Given the description of an element on the screen output the (x, y) to click on. 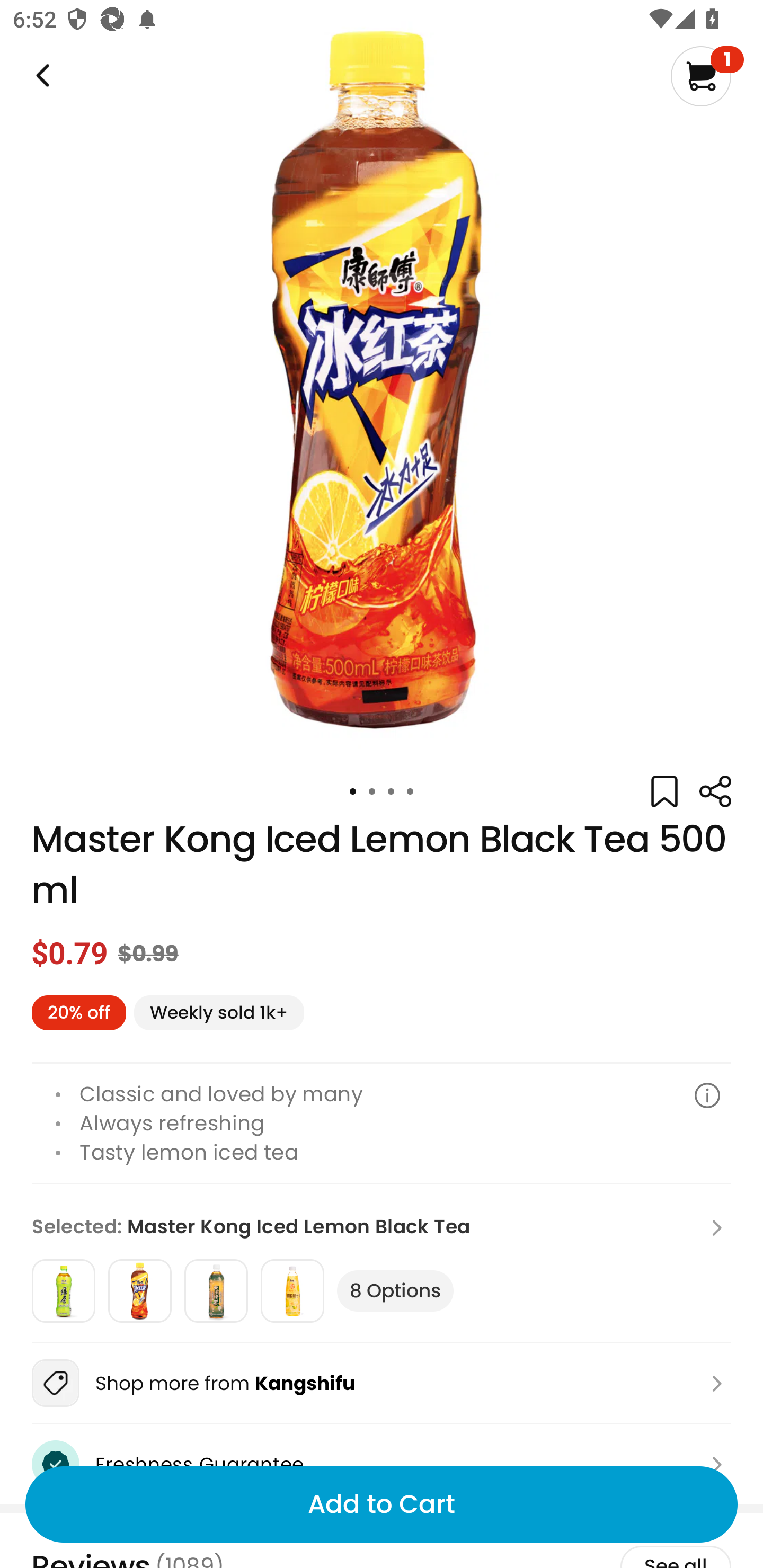
Weee! (41, 75)
1 (706, 75)
Weee! (714, 791)
Shop more from Kangshifu Weee! (381, 1382)
Add to Cart (381, 1504)
Add to Cart (381, 1504)
